Given the description of an element on the screen output the (x, y) to click on. 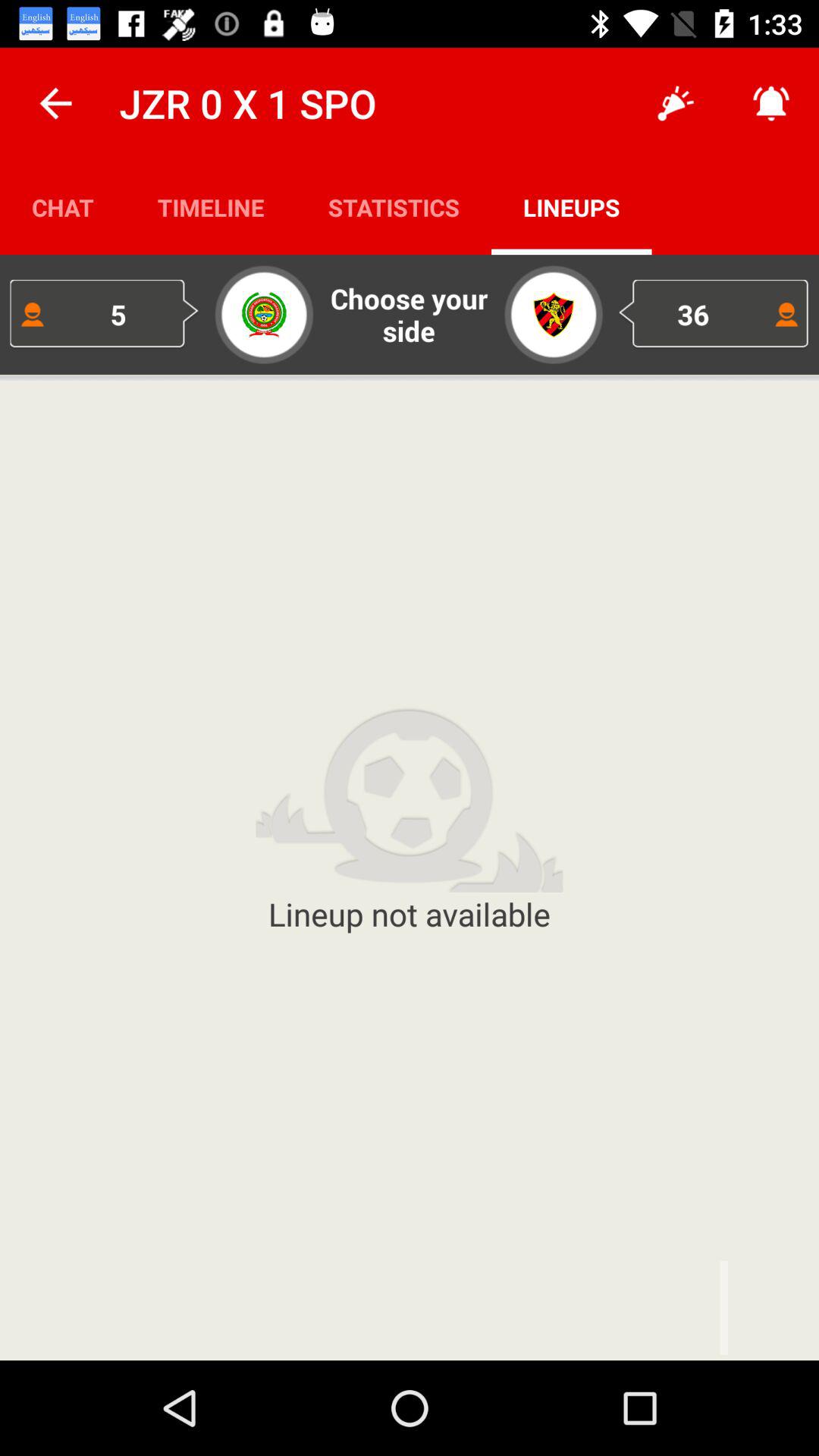
scroll until the jzr 0 x app (247, 102)
